Given the description of an element on the screen output the (x, y) to click on. 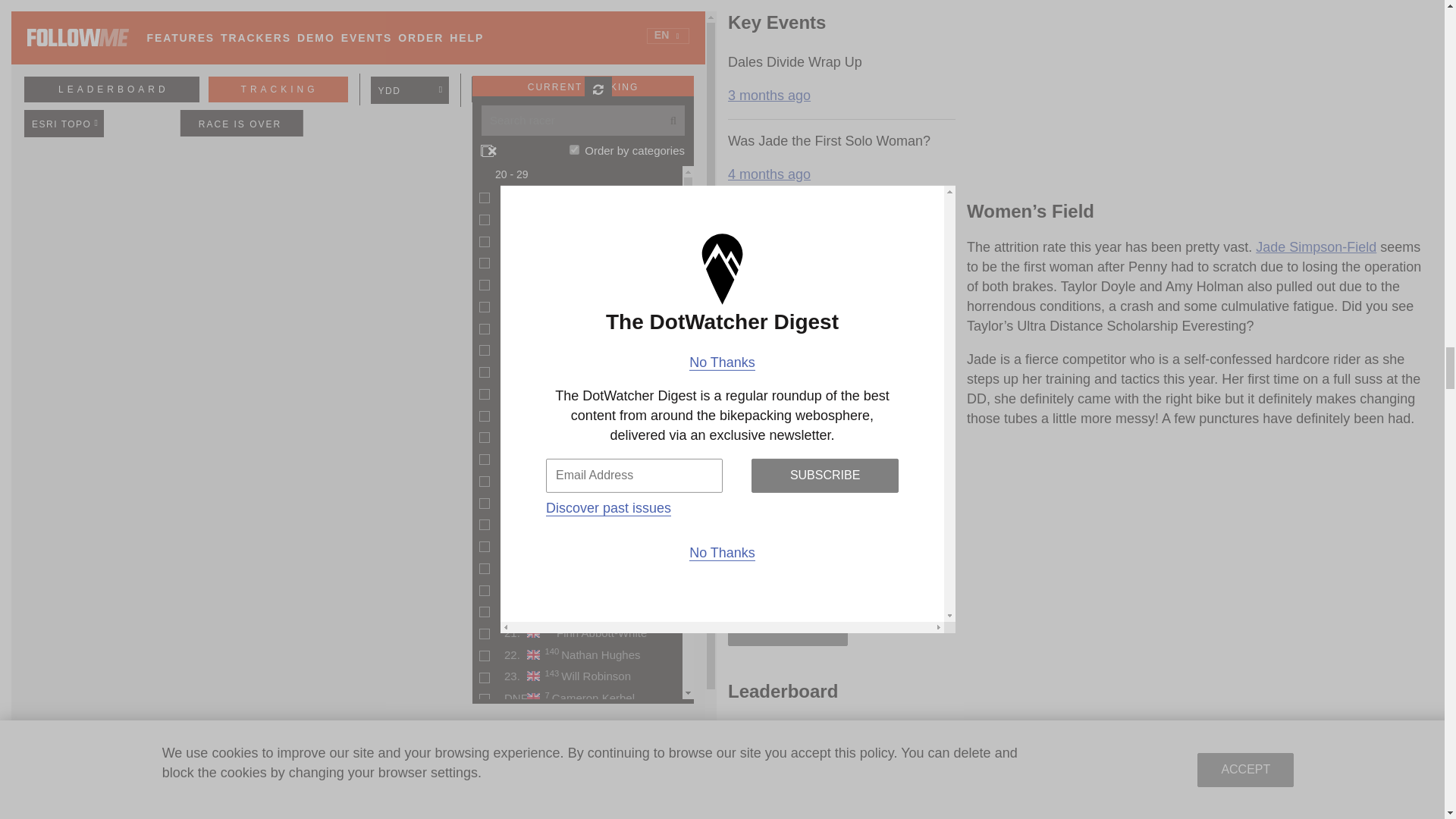
Jade Simpson-Field (1315, 246)
